Given the description of an element on the screen output the (x, y) to click on. 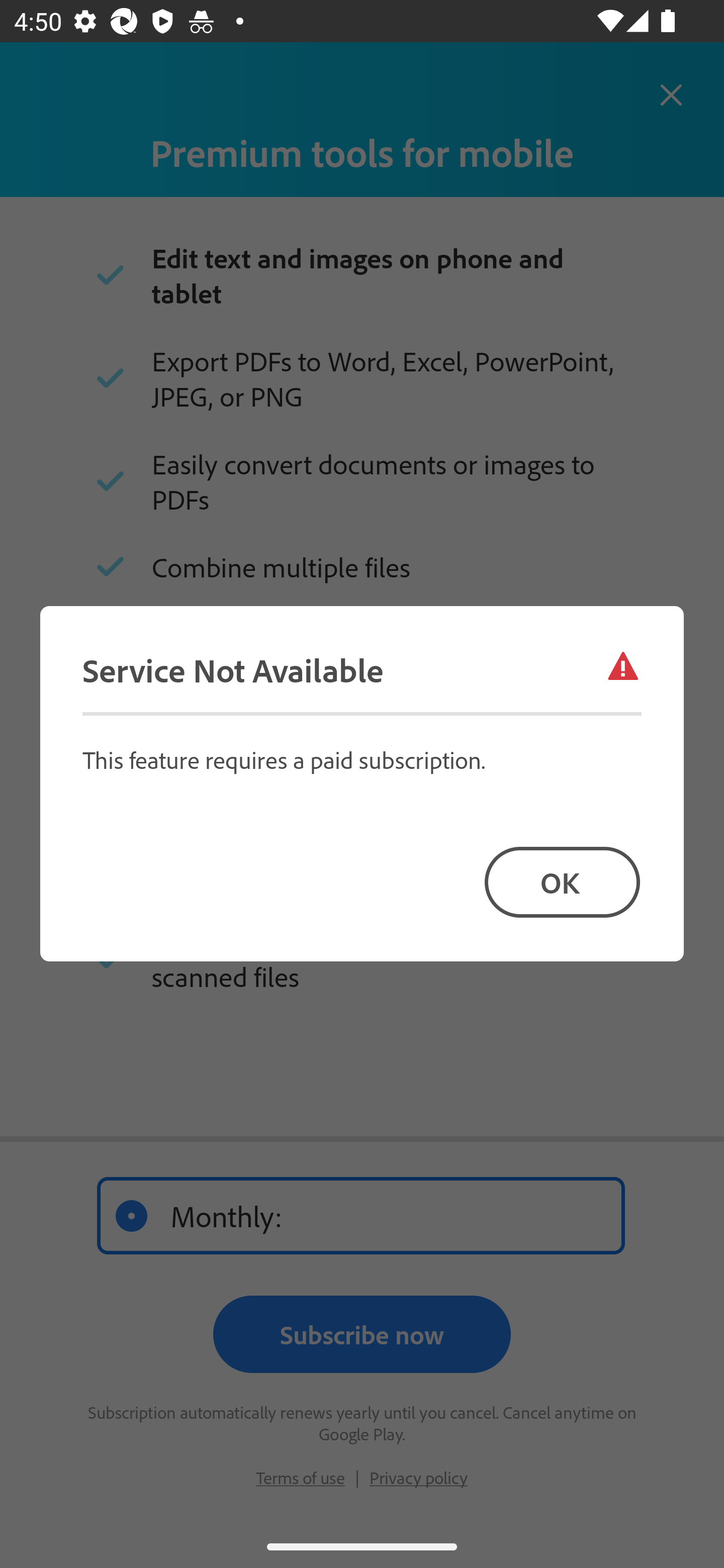
OK (561, 881)
